Given the description of an element on the screen output the (x, y) to click on. 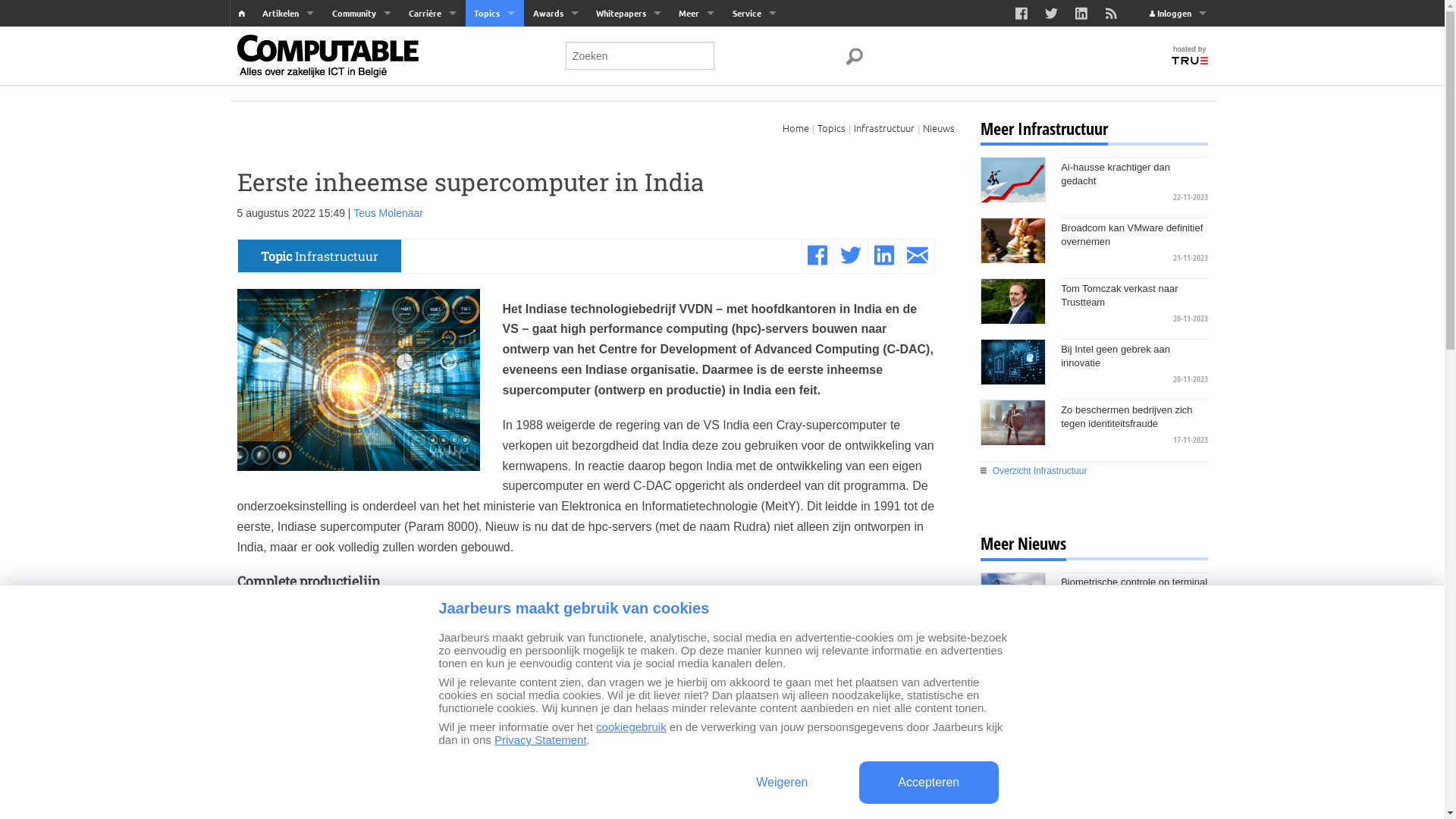
Zo beschermen bedrijven zich tegen identiteitsfraude Element type: text (1133, 416)
Share via e-mail Element type: hover (917, 255)
Bij Intel geen gebrek aan innovatie Element type: text (1133, 356)
Awards Element type: text (555, 13)
Registreren Element type: text (1033, 213)
Wachtwoord vergeten? Element type: text (1061, 234)
Infrastructuur Element type: text (883, 127)
Profielen Element type: text (361, 149)
Artikelen Element type: text (288, 13)
Datacenters Element type: text (494, 149)
Techwire Element type: text (288, 94)
Biometrische controle op terminal in Antwerpse haven Element type: text (1133, 588)
Share via Twitter Element type: hover (850, 255)
Accepteren Element type: text (928, 782)
Hall of Fame Element type: text (555, 94)
Meer Element type: text (696, 13)
Weigeren Element type: text (781, 782)
Privacy Statement Element type: text (540, 739)
Persbericht aanmelden Element type: text (288, 149)
Topics Element type: text (494, 13)
Aanmelden Nieuwsbrief Element type: text (753, 94)
Home Element type: text (795, 127)
Tom Tomczak verkast naar Trustteam Element type: text (1133, 295)
Dataverwerking Element type: hover (357, 383)
Community Element type: text (361, 13)
Tags Element type: text (288, 203)
Security Element type: text (494, 94)
Baanvak Element type: text (431, 39)
Blogs Element type: text (361, 94)
Expert worden Element type: text (361, 176)
Zoeken Element type: text (288, 258)
Contact Element type: text (753, 39)
Wie werkt waar Element type: text (431, 94)
Columns Element type: text (361, 121)
Inloggen Element type: text (1177, 13)
Whitepapers Element type: text (627, 13)
Awards Nieuws Element type: text (555, 67)
Sponsored Element type: text (696, 39)
Aanmelden Whitepaper nieuwsbrief Element type: text (627, 39)
Teus Molenaar Element type: text (388, 213)
Topic Infrastructuur Element type: text (319, 256)
Adverteren Element type: text (753, 67)
Broadcom kan VMware definitief overnemen Element type: text (1133, 234)
cookiegebruik Element type: text (631, 726)
Digital Workplace Element type: text (494, 67)
Share via Facebook Element type: hover (816, 255)
Achtergrond Element type: text (288, 67)
Noord-Korea belaagt solliciterende ontwikkelaars Element type: text (1133, 710)
Big data Element type: text (494, 176)
Service Element type: text (753, 13)
Bedrijfsdossiers Element type: text (288, 176)
Nieuws Element type: text (937, 127)
Feeds en RSS Element type: text (753, 121)
Nieuws Element type: text (288, 39)
Ai-hausse krachtiger dan gedacht Element type: text (1133, 174)
Reacties Element type: text (361, 39)
Share via Linkedin Element type: hover (883, 255)
Business Analytics Element type: text (494, 203)
Datamanagement Element type: text (494, 39)
Internet of things Element type: text (494, 121)
Auteurs Element type: text (288, 230)
Start IT Element type: text (288, 121)
BusinessITScan Element type: text (696, 94)
Inloggen Element type: text (1101, 161)
Iot-trackers houden werkuren van sneeuwploegen bij Element type: text (1133, 649)
Colofon Element type: text (753, 149)
Opinie Element type: text (361, 67)
Agenda Element type: text (431, 67)
Topics Element type: text (831, 127)
Alle topics Element type: text (494, 230)
Overzicht Infrastructuur Element type: text (1093, 470)
